Given the description of an element on the screen output the (x, y) to click on. 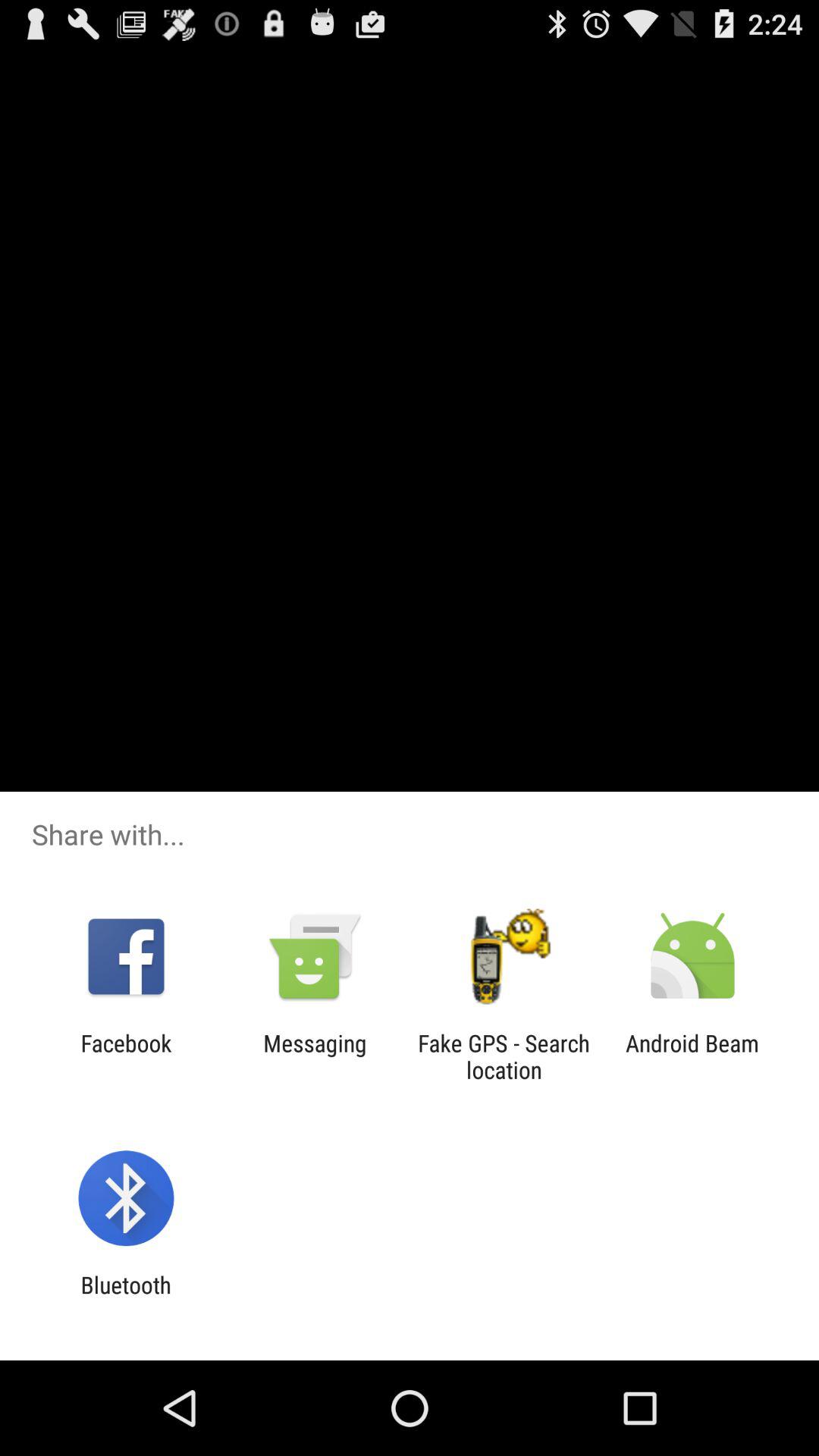
launch the icon to the right of messaging icon (503, 1056)
